Given the description of an element on the screen output the (x, y) to click on. 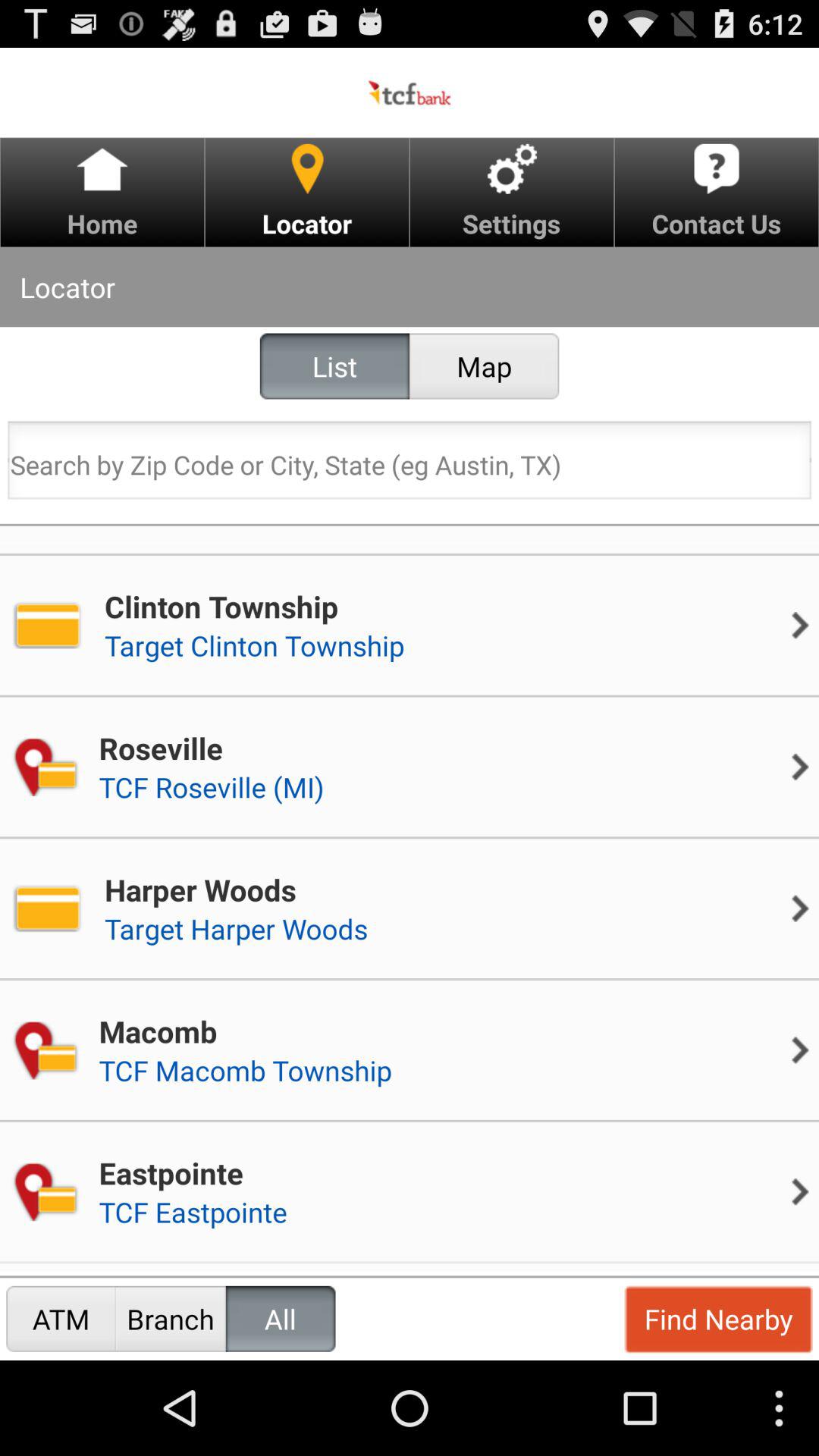
click item next to list radio button (484, 366)
